Given the description of an element on the screen output the (x, y) to click on. 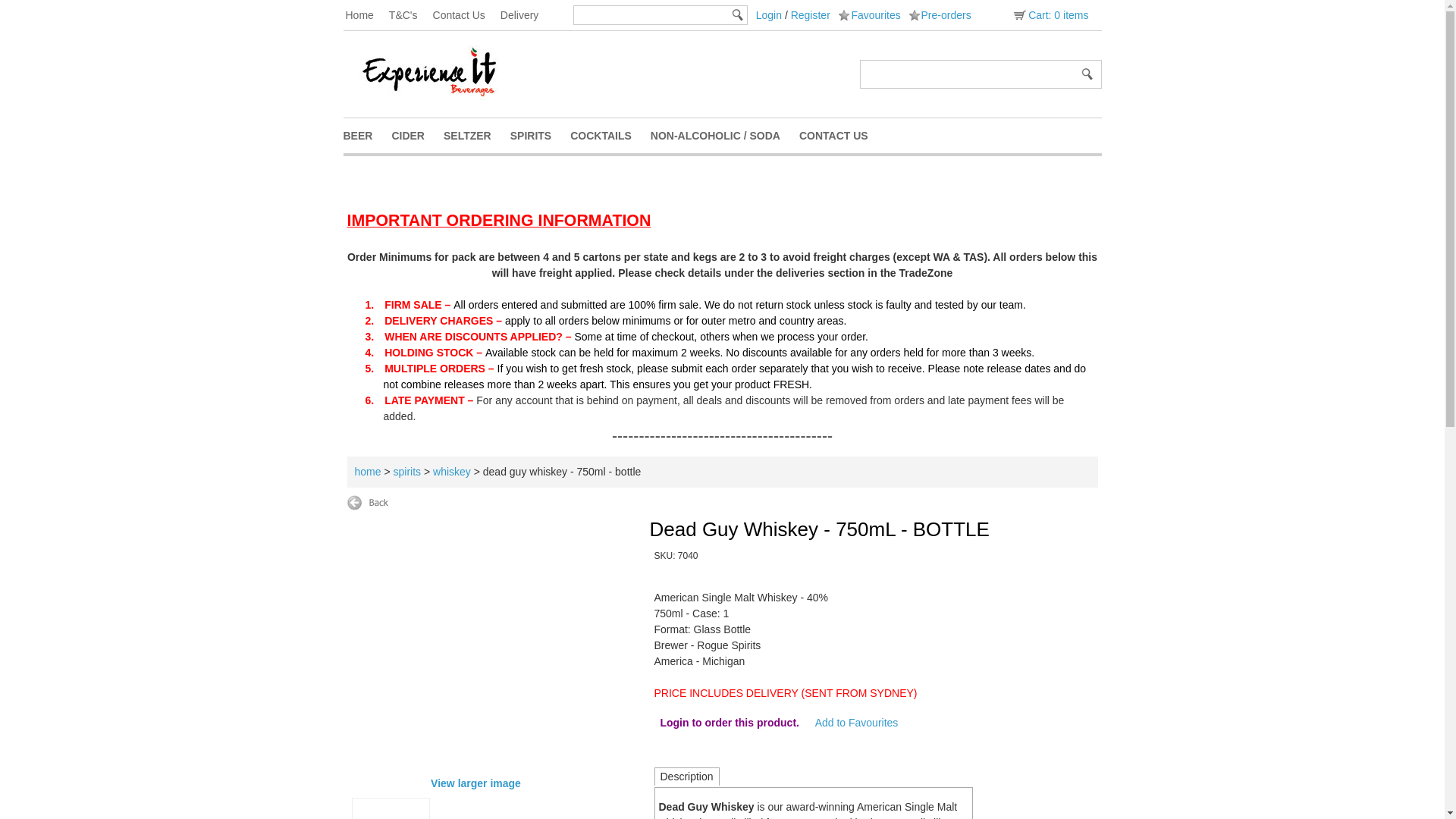
BEER Element type: text (366, 135)
Description Element type: text (685, 776)
Cart: 0 items Element type: text (1049, 15)
whiskey Element type: text (451, 471)
Add to Favourites Element type: text (856, 722)
T&C's Element type: text (411, 15)
Contact Us Element type: text (466, 15)
Search Products... Element type: hover (652, 15)
Delivery Element type: text (527, 15)
spirits Element type: text (406, 471)
SPIRITS Element type: text (540, 135)
Search Products... Element type: hover (967, 73)
Login Element type: text (768, 15)
COCKTAILS Element type: text (610, 135)
Favourites Element type: text (868, 15)
View larger image Element type: text (475, 783)
Pre-orders Element type: text (939, 15)
home Element type: text (367, 471)
Home Element type: text (367, 15)
CONTACT US Element type: text (843, 135)
CIDER Element type: text (417, 135)
SELTZER Element type: text (476, 135)
NON-ALCOHOLIC / SODA Element type: text (724, 135)
Register Element type: text (810, 15)
